Given the description of an element on the screen output the (x, y) to click on. 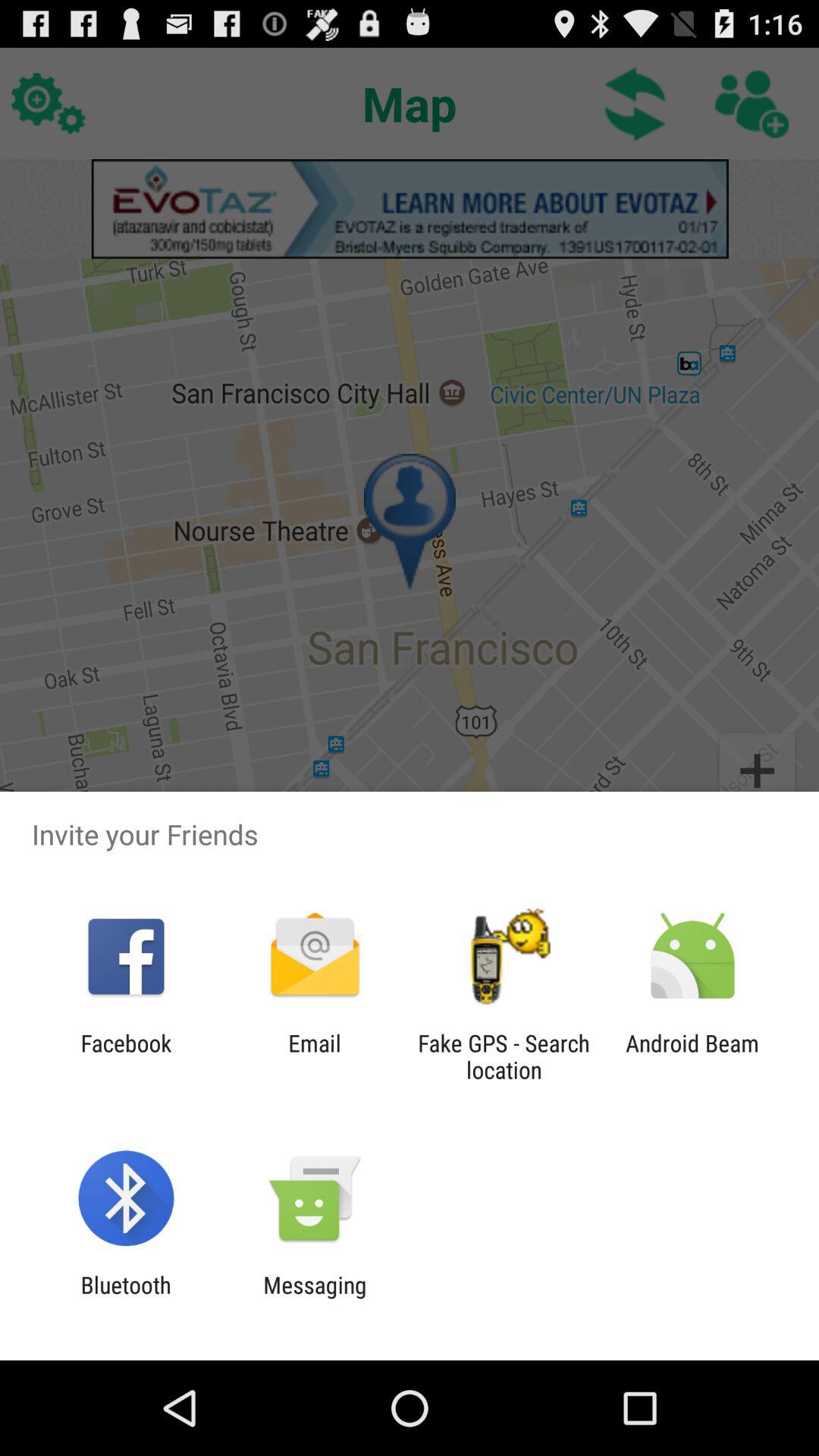
tap the icon next to the bluetooth icon (314, 1298)
